Given the description of an element on the screen output the (x, y) to click on. 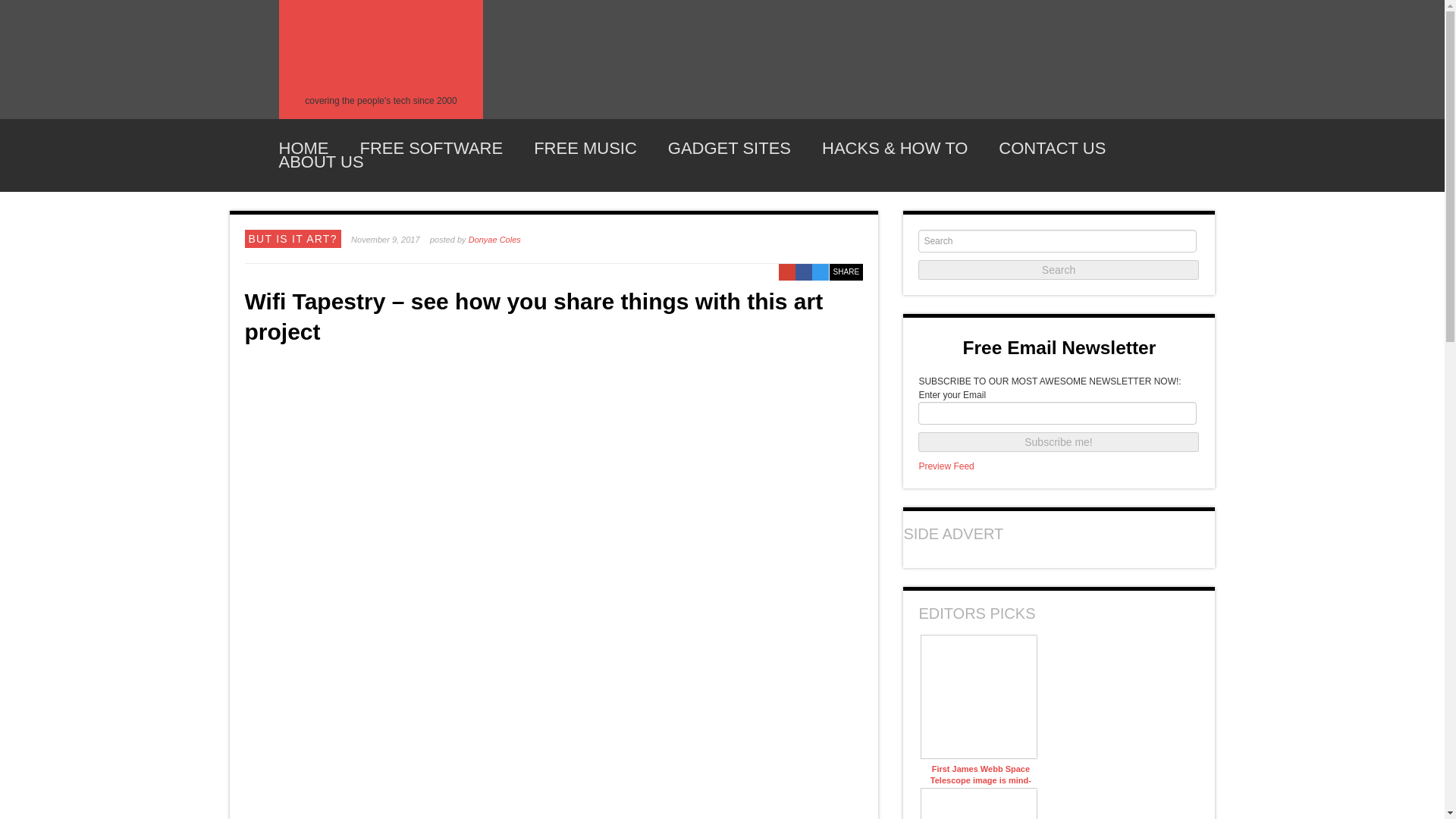
Preview Feed (946, 466)
BUT IS IT ART? (292, 238)
FREE SOFTWARE (430, 148)
ABOUT US (321, 161)
Search (1058, 270)
Subscribe me! (1058, 442)
Donyae Coles (494, 239)
HOME (304, 148)
SHARE (846, 271)
GADGET SITES (729, 148)
